Given the description of an element on the screen output the (x, y) to click on. 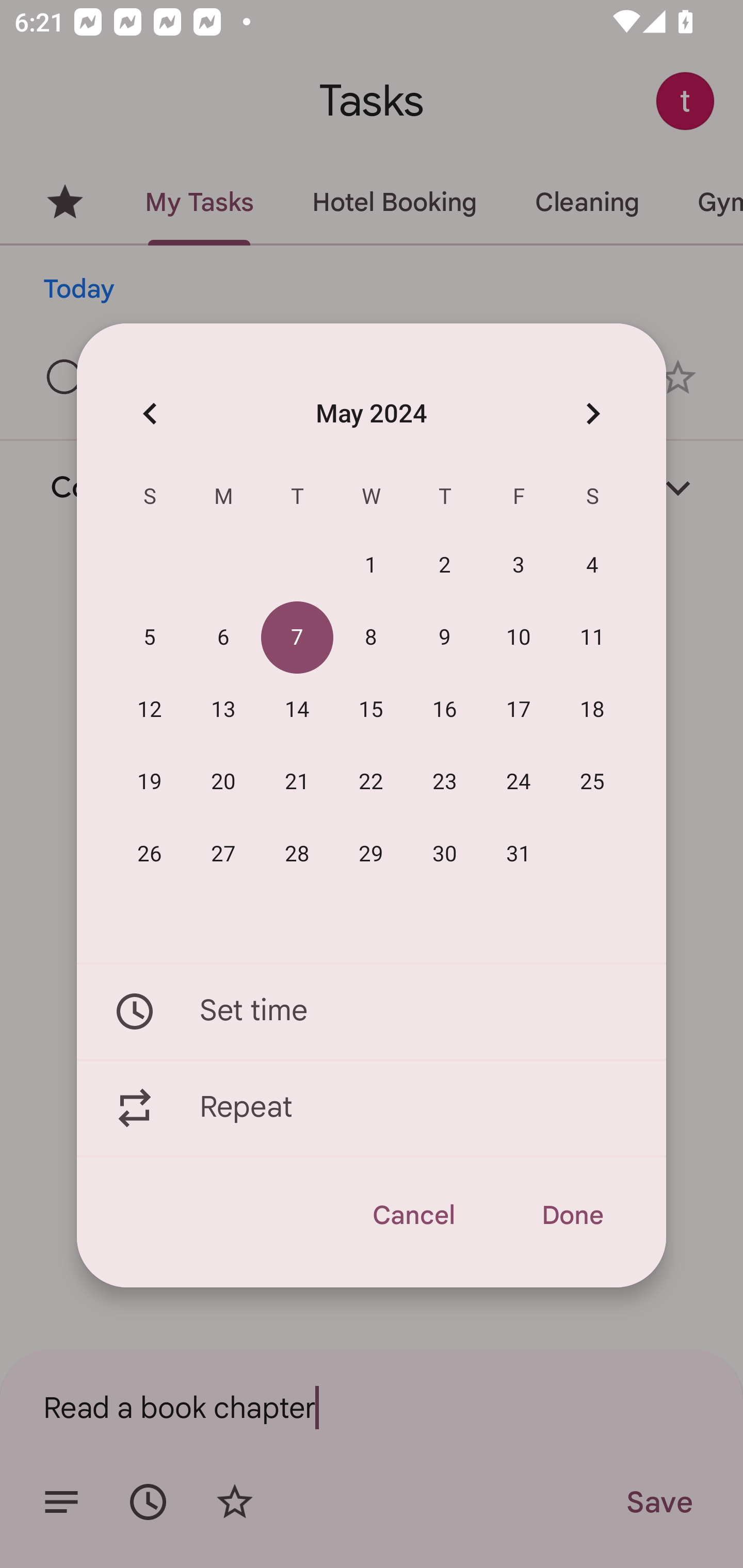
Previous month (149, 413)
Next month (592, 413)
1 01 May 2024 (370, 565)
2 02 May 2024 (444, 565)
3 03 May 2024 (518, 565)
4 04 May 2024 (592, 565)
5 05 May 2024 (149, 638)
6 06 May 2024 (223, 638)
7 07 May 2024 (297, 638)
8 08 May 2024 (370, 638)
9 09 May 2024 (444, 638)
10 10 May 2024 (518, 638)
11 11 May 2024 (592, 638)
12 12 May 2024 (149, 710)
13 13 May 2024 (223, 710)
14 14 May 2024 (297, 710)
15 15 May 2024 (370, 710)
16 16 May 2024 (444, 710)
17 17 May 2024 (518, 710)
18 18 May 2024 (592, 710)
19 19 May 2024 (149, 782)
20 20 May 2024 (223, 782)
21 21 May 2024 (297, 782)
22 22 May 2024 (370, 782)
23 23 May 2024 (444, 782)
24 24 May 2024 (518, 782)
25 25 May 2024 (592, 782)
26 26 May 2024 (149, 854)
27 27 May 2024 (223, 854)
28 28 May 2024 (297, 854)
29 29 May 2024 (370, 854)
30 30 May 2024 (444, 854)
31 31 May 2024 (518, 854)
Set time (371, 1011)
Repeat (371, 1108)
Cancel (412, 1215)
Done (571, 1215)
